Given the description of an element on the screen output the (x, y) to click on. 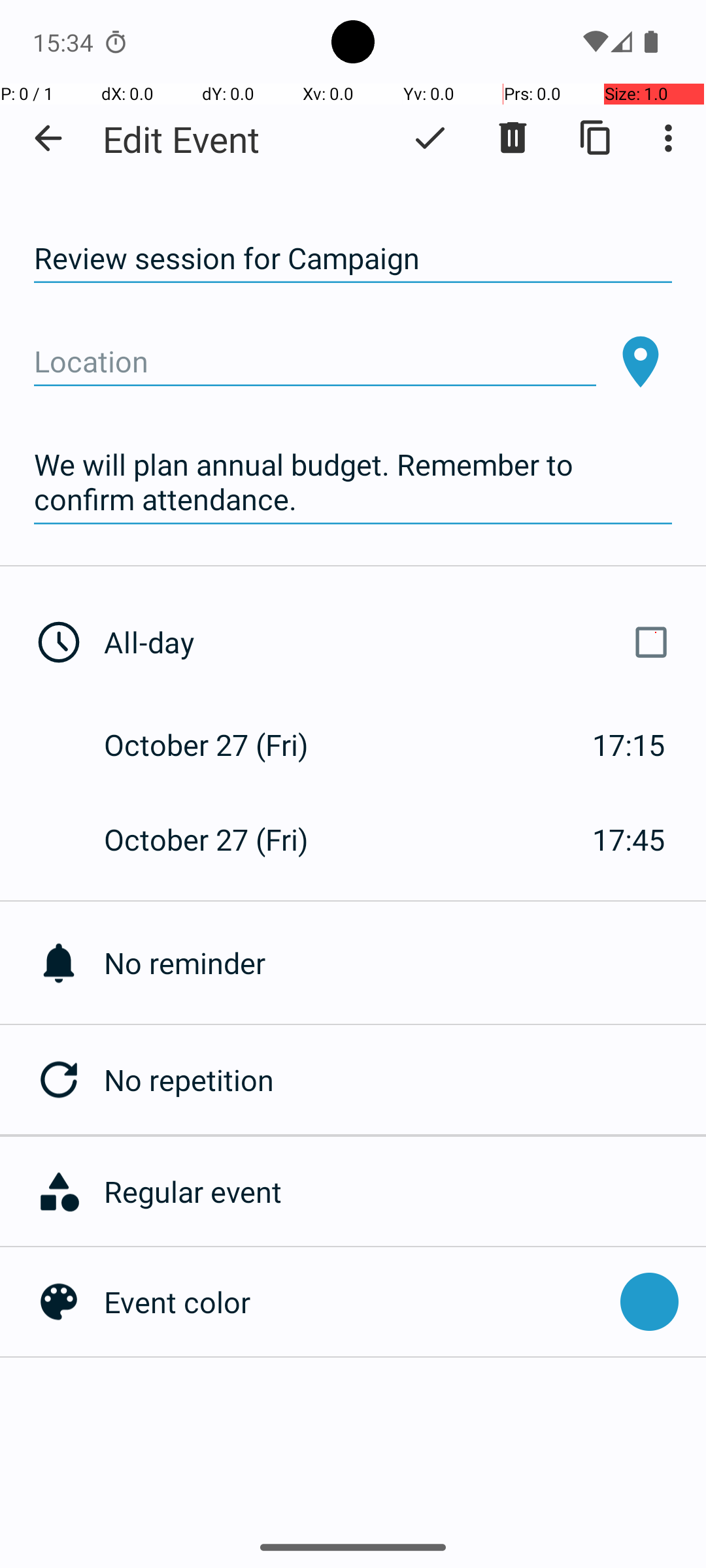
We will plan annual budget. Remember to confirm attendance. Element type: android.widget.EditText (352, 482)
October 27 (Fri) Element type: android.widget.TextView (219, 744)
17:15 Element type: android.widget.TextView (628, 744)
17:45 Element type: android.widget.TextView (628, 838)
